Given the description of an element on the screen output the (x, y) to click on. 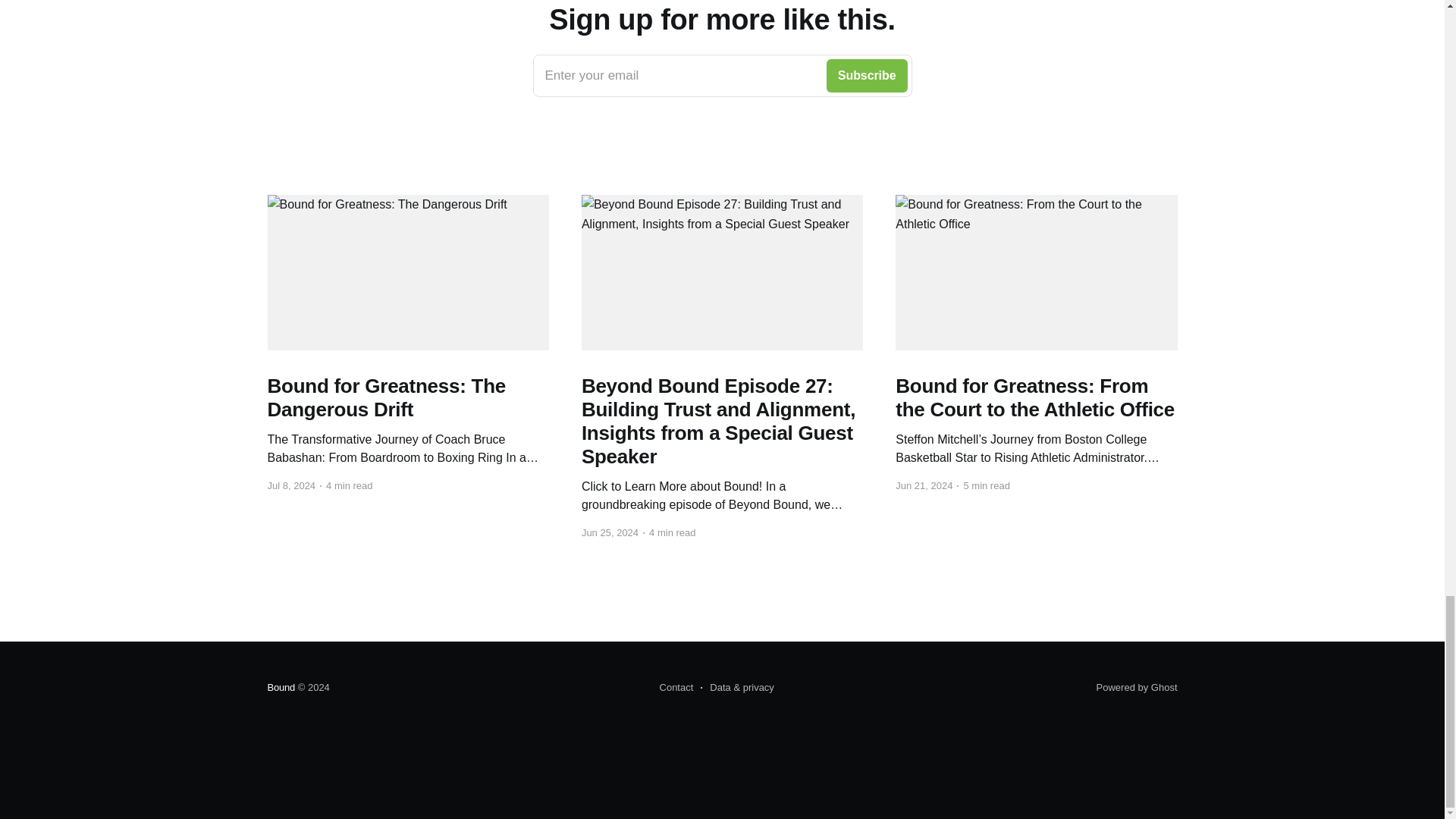
Contact (676, 687)
Powered by Ghost (1136, 686)
Bound (721, 75)
